Given the description of an element on the screen output the (x, y) to click on. 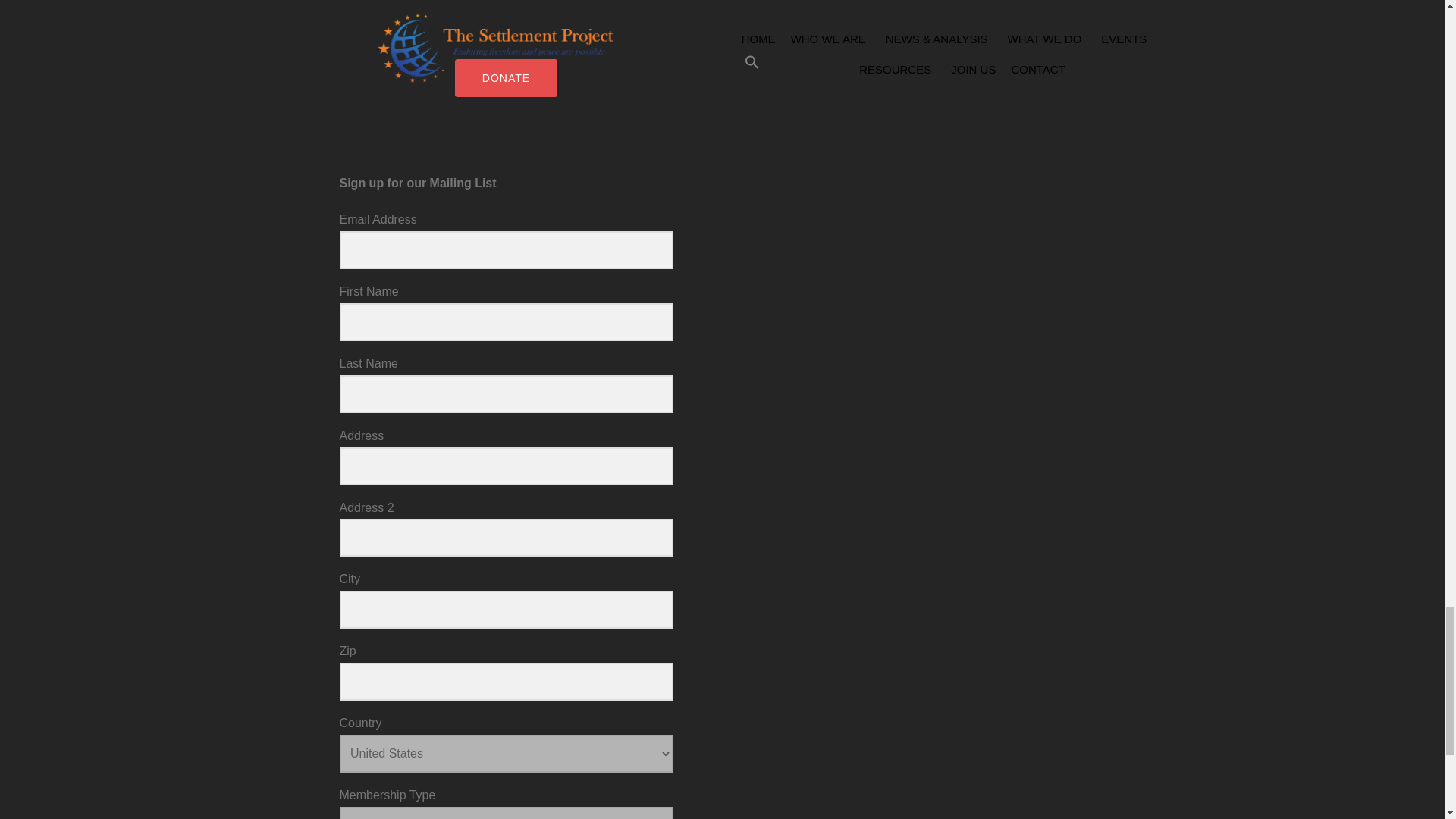
5 digit zip code, numbers only (505, 681)
